Given the description of an element on the screen output the (x, y) to click on. 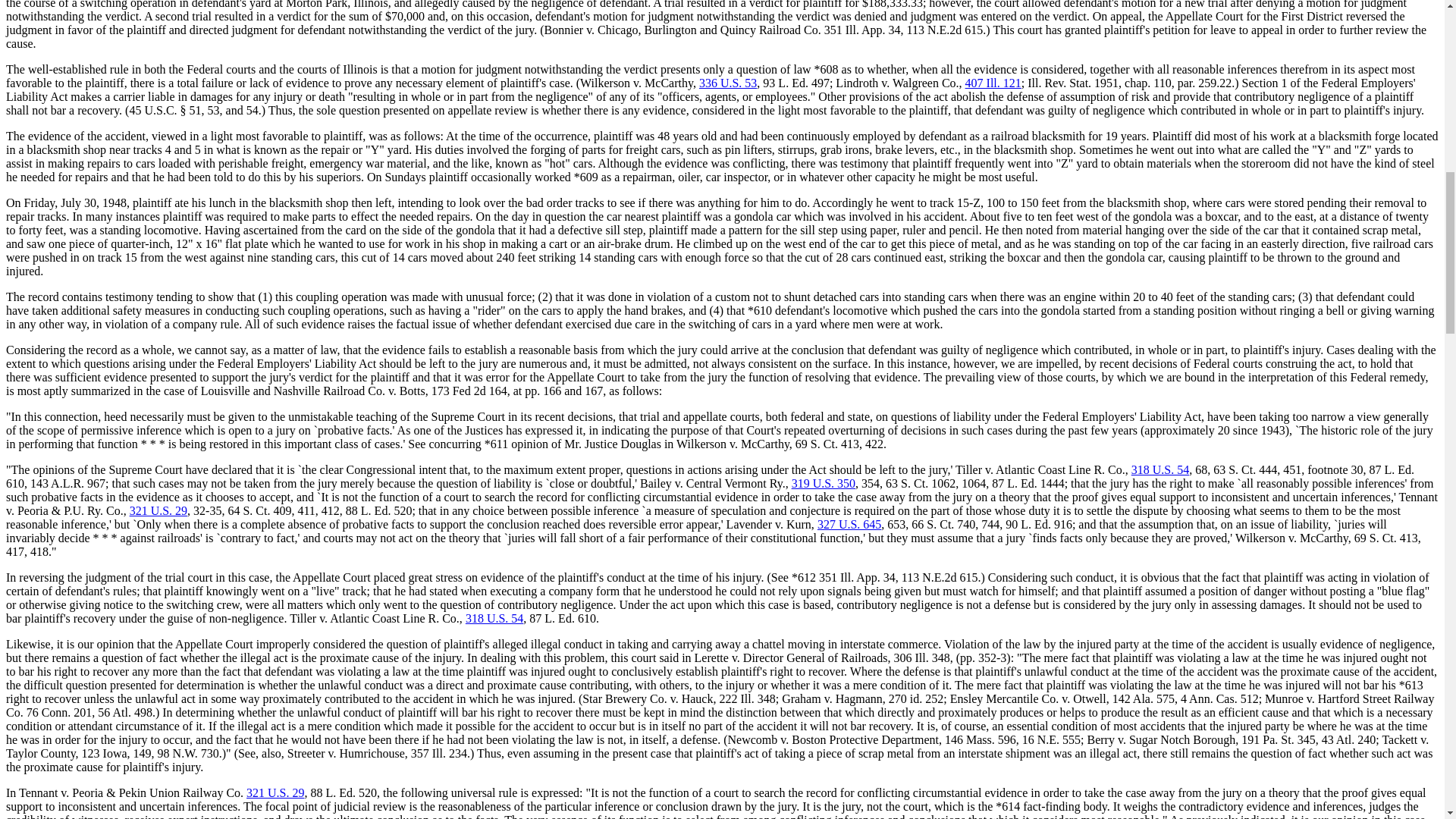
407 Ill. 121 (993, 82)
336 U.S. 53 (727, 82)
318 U.S. 54 (1160, 469)
319 U.S. 350 (824, 482)
321 U.S. 29 (158, 510)
